Given the description of an element on the screen output the (x, y) to click on. 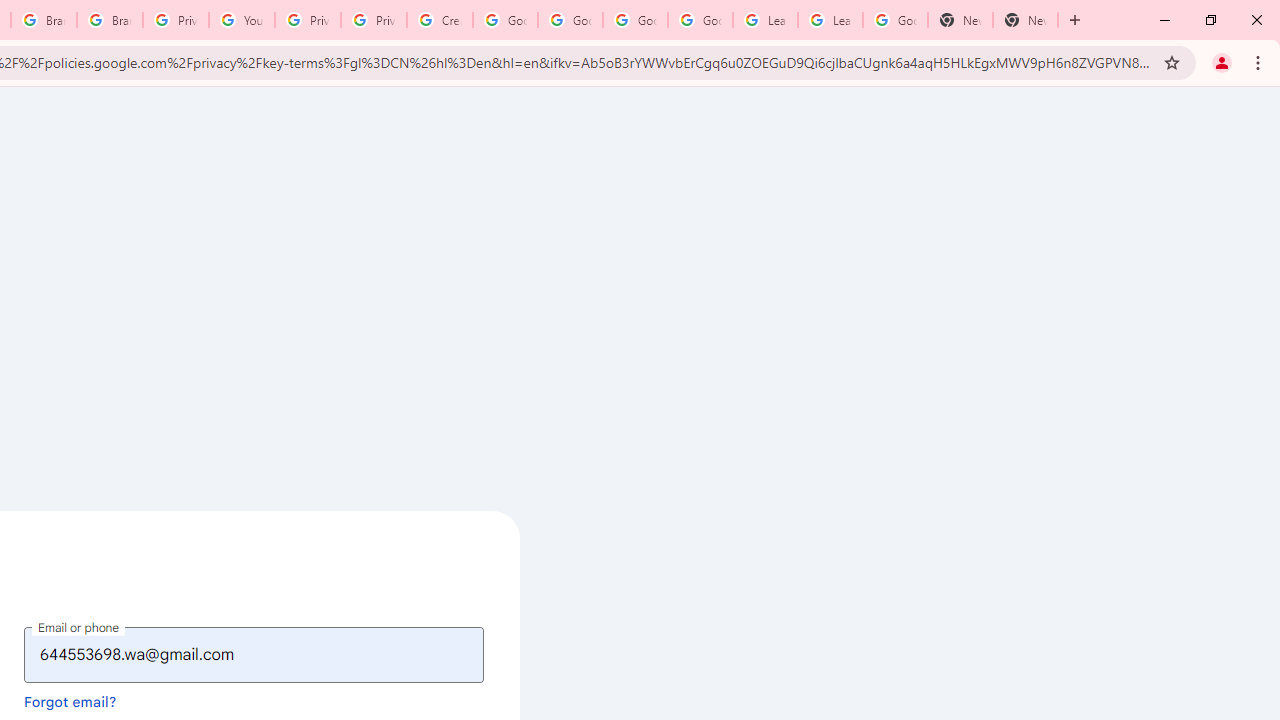
New Tab (1025, 20)
Brand Resource Center (109, 20)
Forgot email? (70, 701)
Email or phone (253, 654)
